Given the description of an element on the screen output the (x, y) to click on. 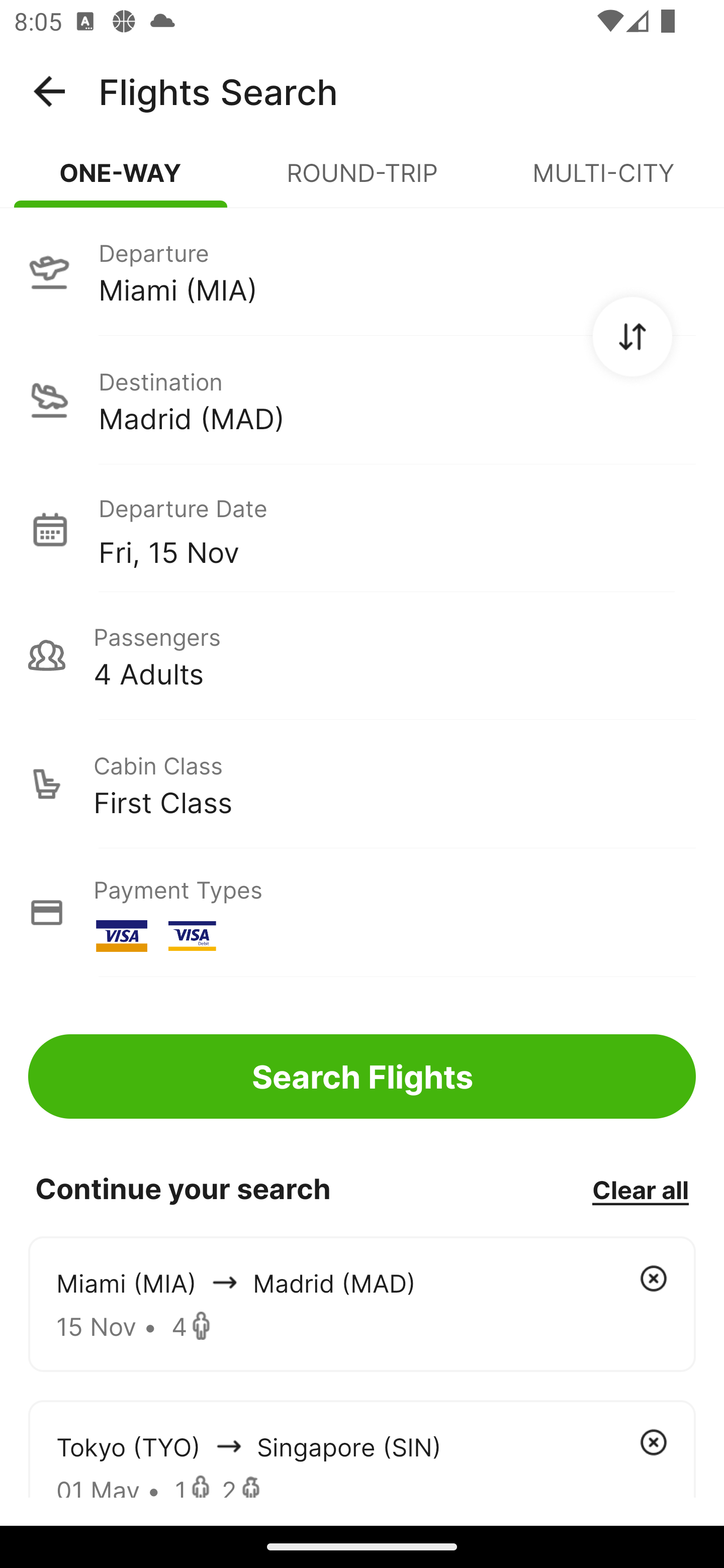
ONE-WAY (120, 180)
ROUND-TRIP (361, 180)
MULTI-CITY (603, 180)
Departure Miami (MIA) (362, 270)
Destination Madrid (MAD) (362, 400)
Departure Date Fri, 15 Nov (396, 528)
Passengers 4 Adults (362, 655)
Cabin Class First Class (362, 783)
Payment Types (362, 912)
Search Flights (361, 1075)
Clear all (640, 1189)
Miami (MIA)  arrowIcon  Madrid (MAD) 15 Nov •  4  (361, 1303)
